Given the description of an element on the screen output the (x, y) to click on. 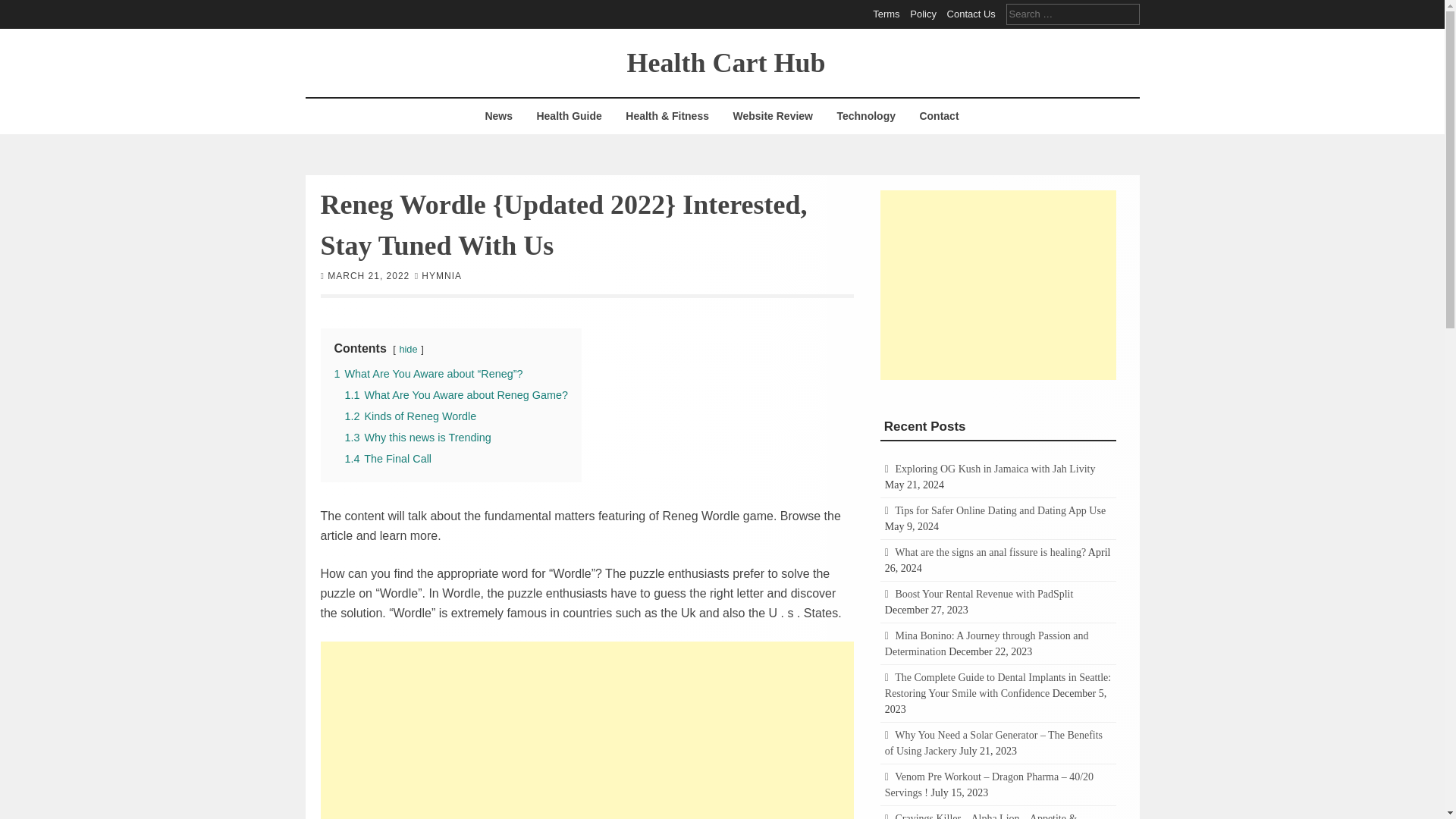
Health Guide (568, 116)
MARCH 21, 2022 (368, 275)
What are the signs an anal fissure is healing? (990, 552)
Contact Us (971, 13)
Mina Bonino: A Journey through Passion and Determination (987, 643)
Search (23, 9)
Exploring OG Kush in Jamaica with Jah Livity (994, 469)
1.4 The Final Call (386, 458)
Technology (866, 116)
1.2 Kinds of Reneg Wordle (409, 415)
Tips for Safer Online Dating and Dating App Use (1000, 510)
News (498, 116)
1.3 Why this news is Trending (416, 436)
Policy (923, 13)
Terms (885, 13)
